Given the description of an element on the screen output the (x, y) to click on. 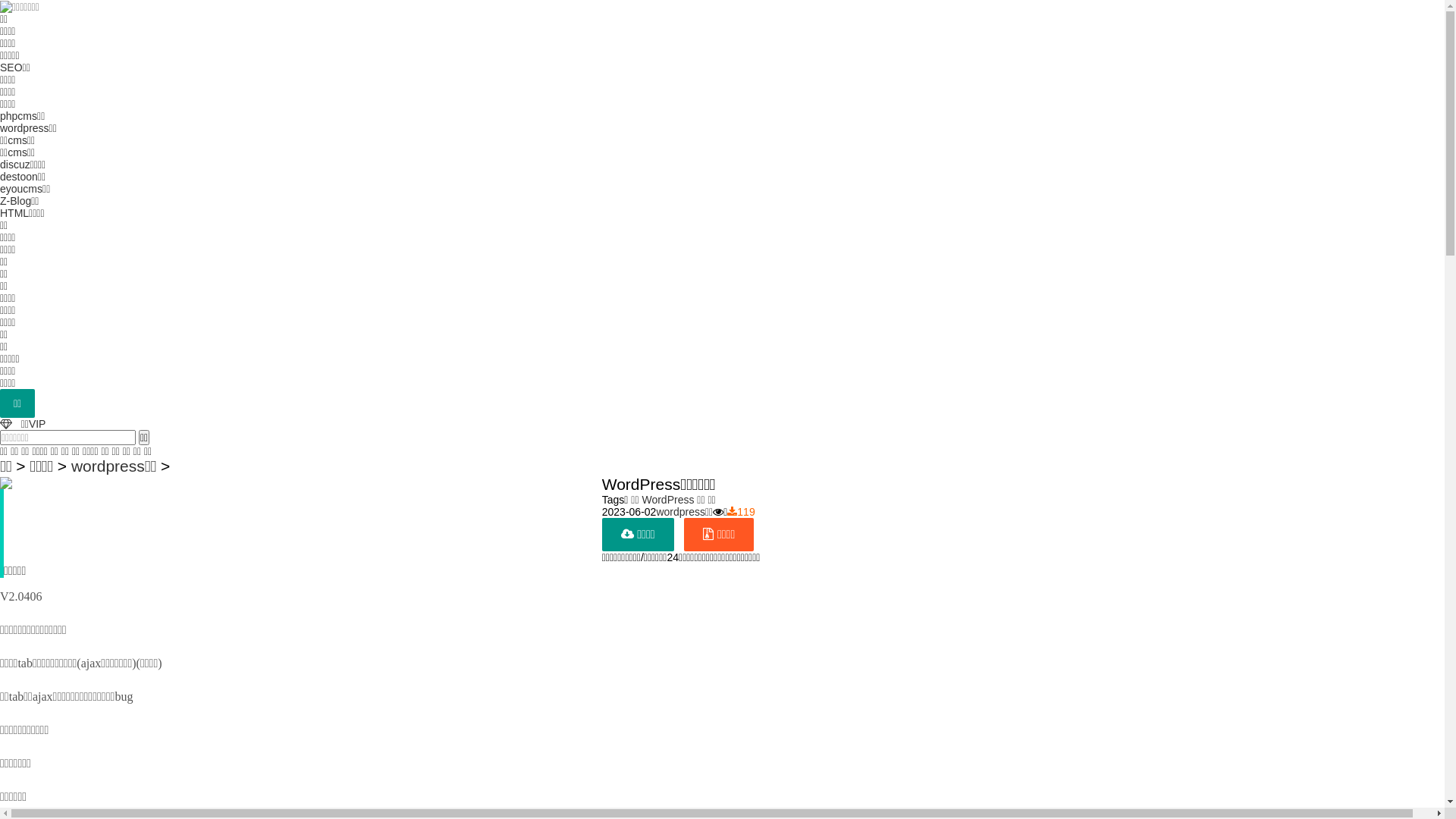
WordPress Element type: text (667, 499)
